Given the description of an element on the screen output the (x, y) to click on. 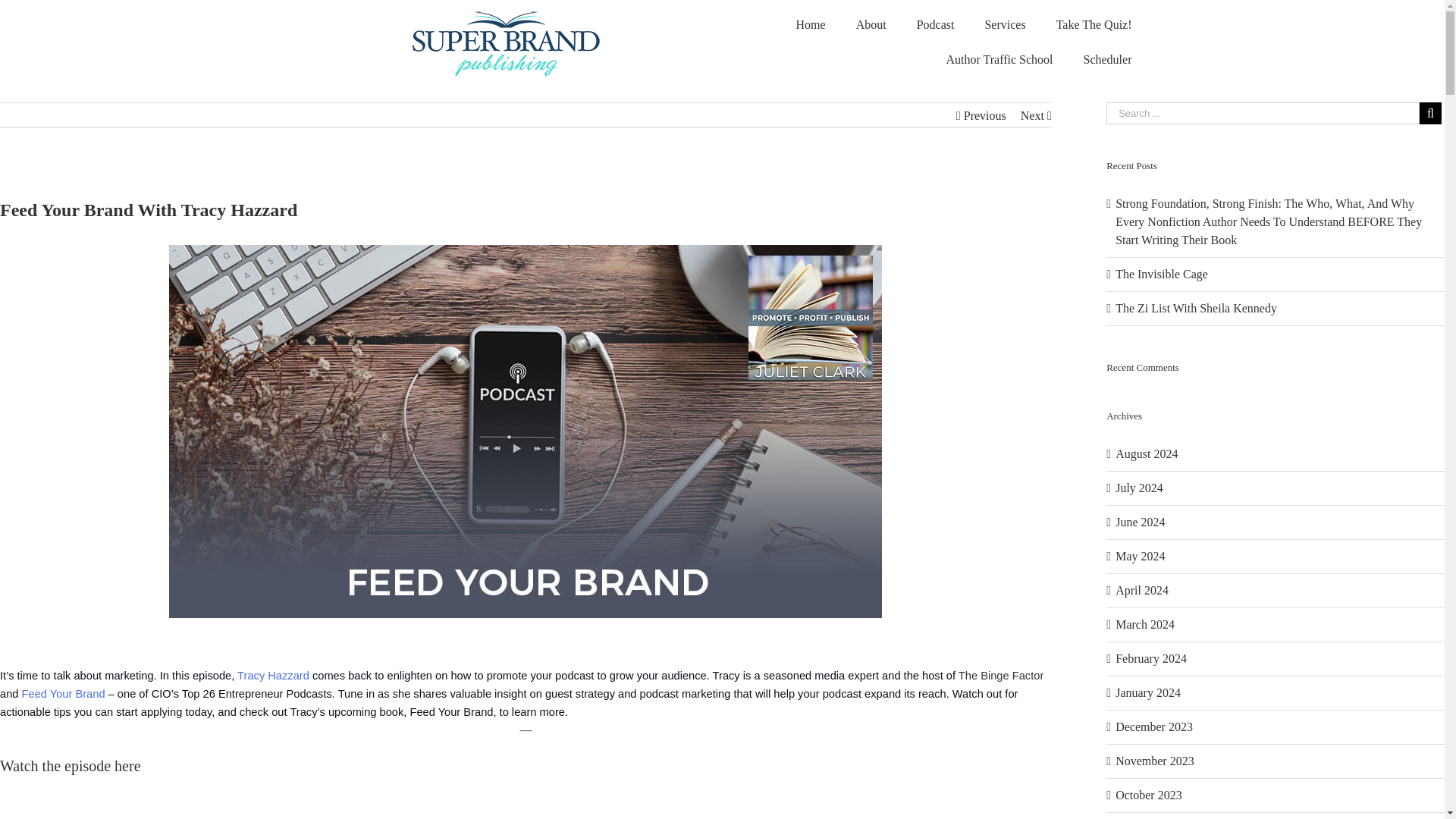
The Binge Factor (1000, 675)
Author Traffic School (998, 59)
About (871, 24)
Tracy Hazzard (272, 675)
Take The Quiz! (1094, 24)
Scheduler (1107, 59)
Services (1005, 24)
Next (1031, 115)
Podcast (935, 24)
Home (810, 24)
